Given the description of an element on the screen output the (x, y) to click on. 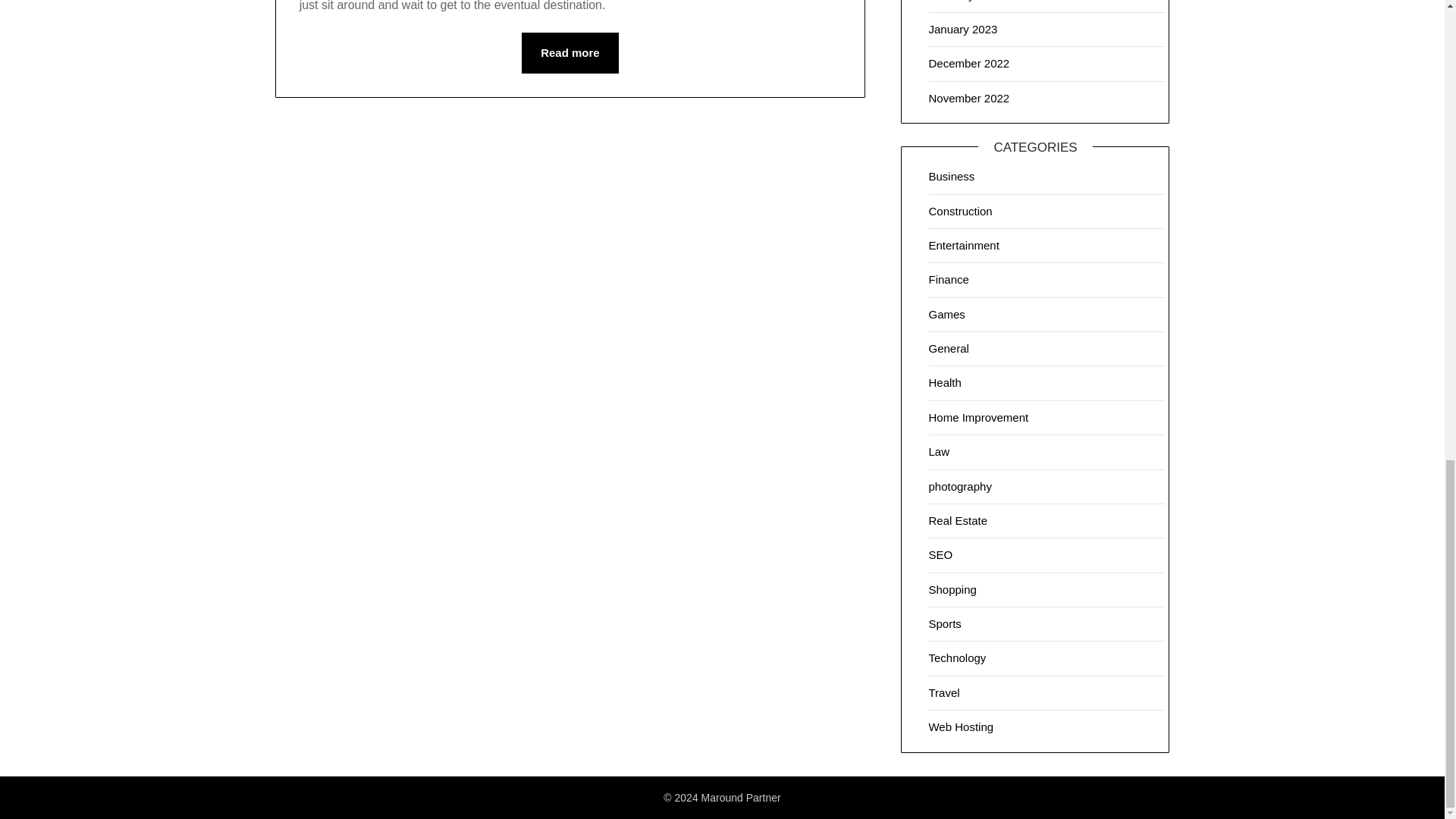
General (948, 348)
December 2022 (968, 62)
January 2023 (962, 29)
Read more (569, 52)
Health (944, 382)
February 2023 (965, 0)
Finance (948, 278)
November 2022 (968, 97)
Construction (959, 210)
Home Improvement (977, 417)
